Given the description of an element on the screen output the (x, y) to click on. 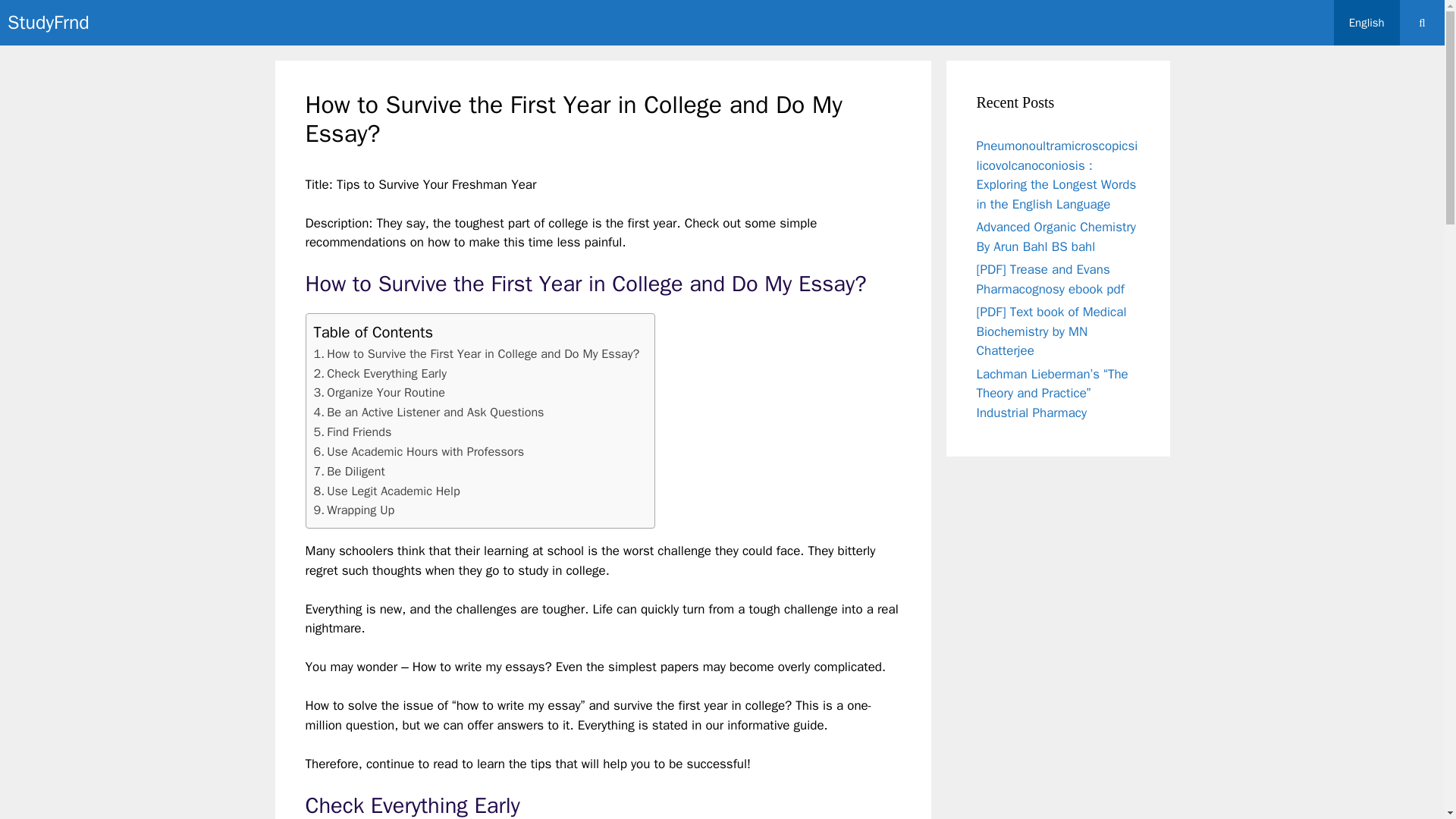
Use Legit Academic Help (387, 491)
Check Everything Early (380, 373)
Wrapping Up (354, 510)
Be Diligent (349, 471)
Advanced Organic Chemistry By Arun Bahl BS bahl (1056, 236)
Check Everything Early (380, 373)
English (1366, 22)
Find Friends (352, 432)
How to Survive the First Year in College and Do My Essay? (477, 353)
Use Legit Academic Help (387, 491)
Find Friends (352, 432)
Be Diligent (349, 471)
StudyFrnd (47, 22)
How to Survive the First Year in College and Do My Essay? (477, 353)
Use Academic Hours with Professors (419, 451)
